Given the description of an element on the screen output the (x, y) to click on. 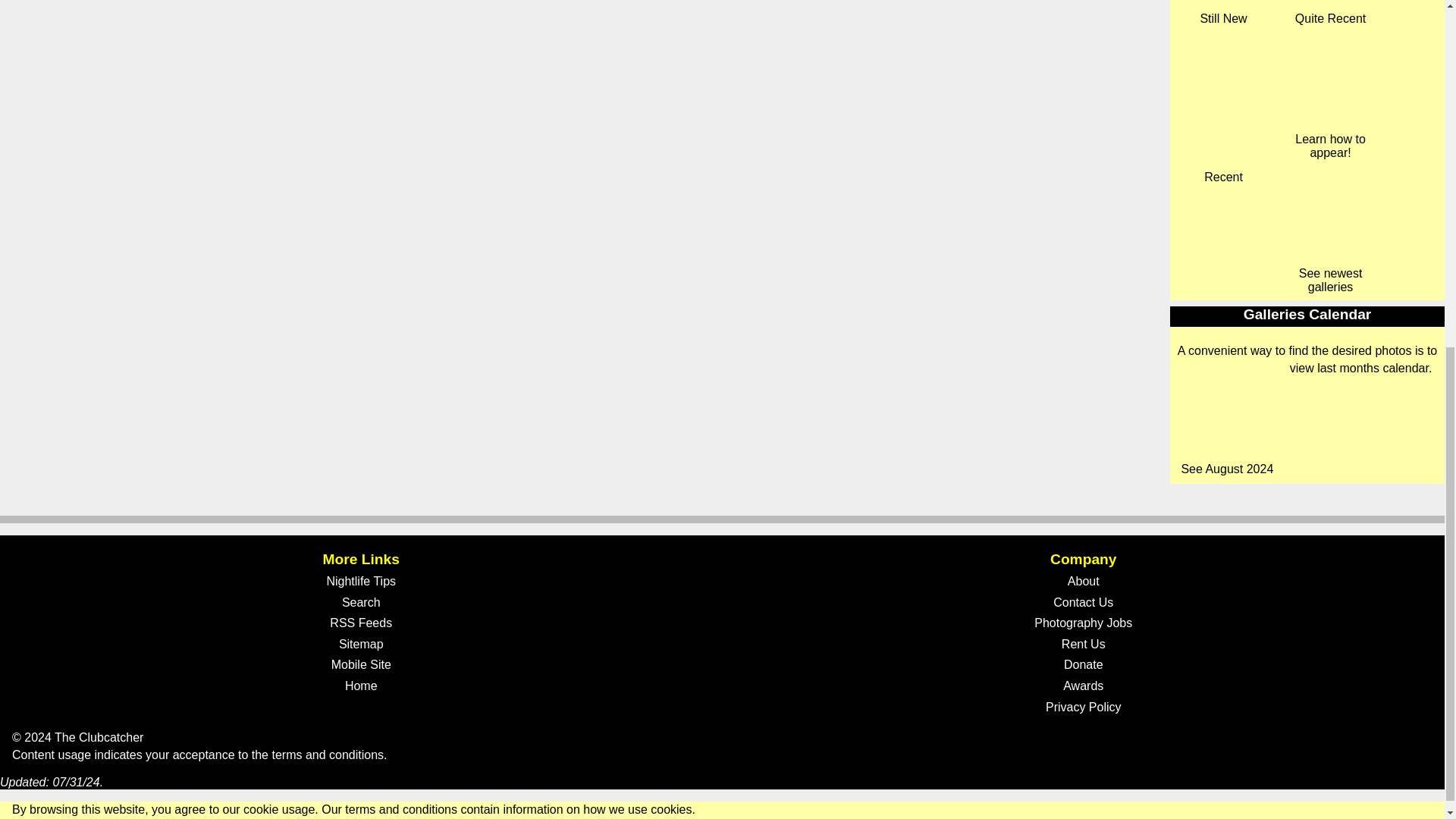
Search (361, 602)
Still New (1223, 12)
terms and conditions (327, 754)
Quite Recent (1329, 12)
Nightlife Tips (361, 581)
Home (361, 685)
Sitemap (361, 644)
Mobile Site (361, 665)
RSS Feeds (361, 622)
